Given the description of an element on the screen output the (x, y) to click on. 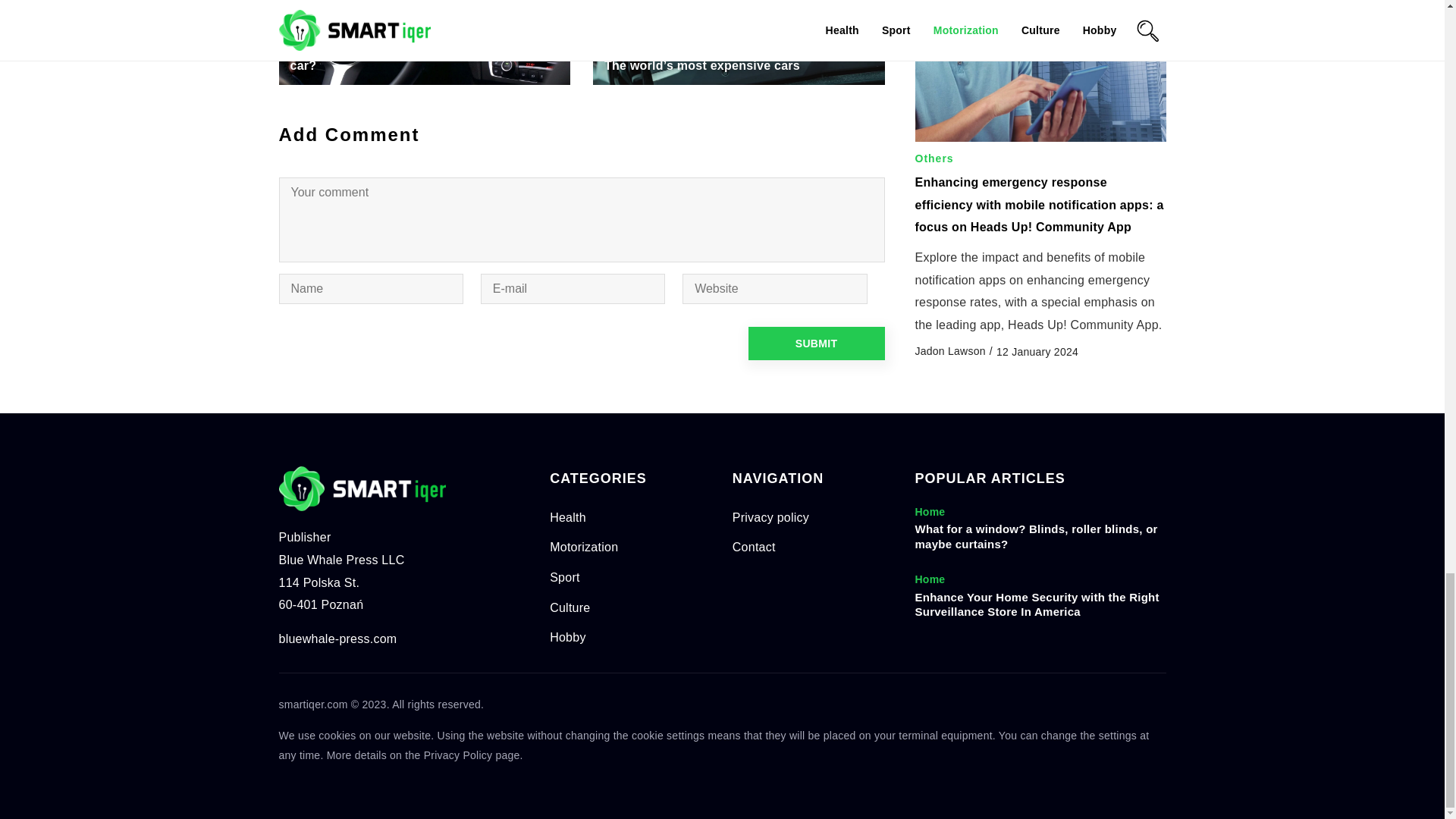
Submit (815, 343)
Motorization (583, 546)
Culture (569, 607)
Hobby (568, 636)
bluewhale-press.com (338, 638)
What to keep in mind when buying a used car? (424, 58)
Health (568, 517)
Sport (564, 576)
Submit (815, 343)
